Given the description of an element on the screen output the (x, y) to click on. 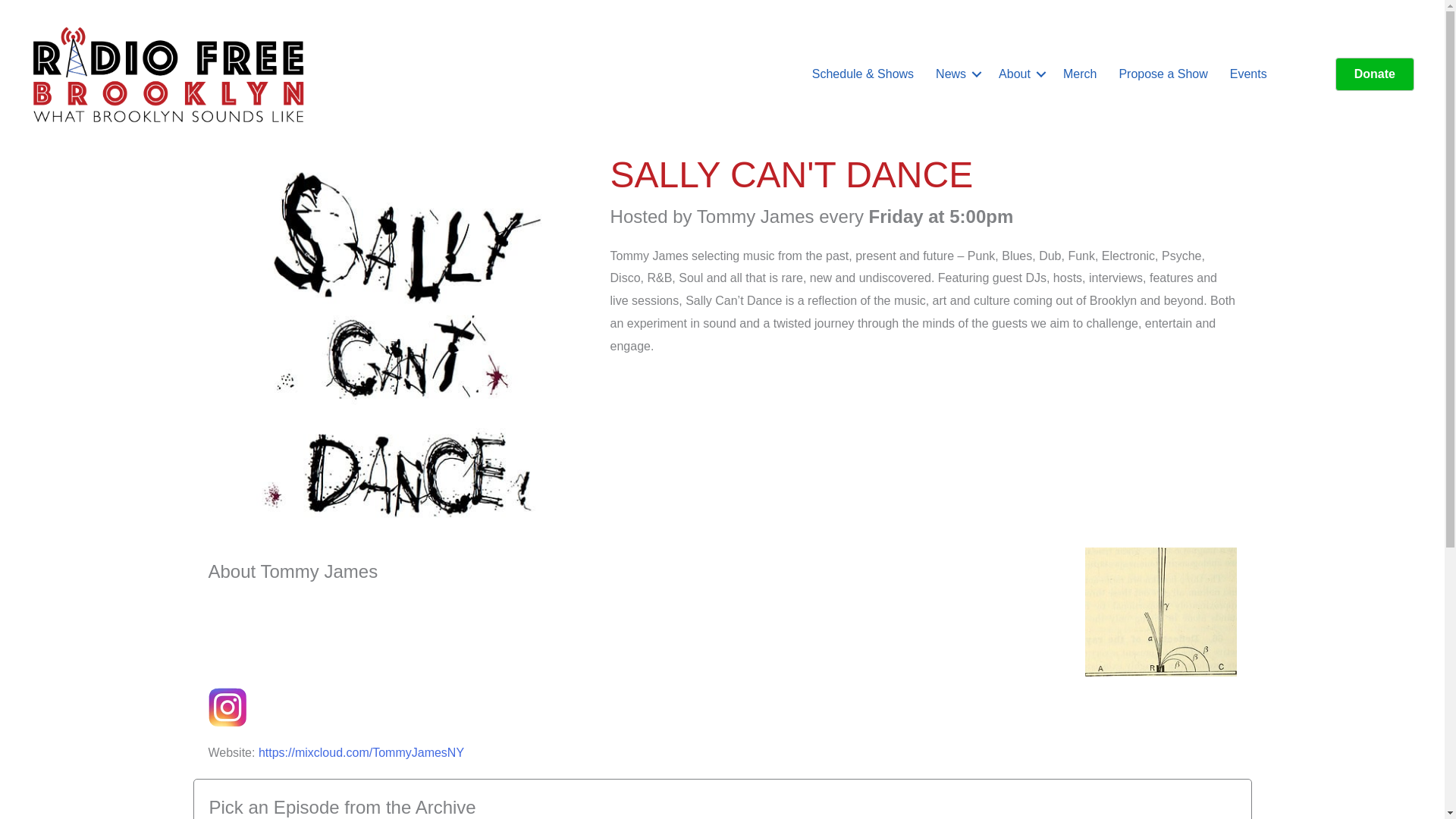
Donate (1374, 73)
cropped-RFB-Logo-3-Layer-Antenna-A.png (167, 74)
Events (1249, 73)
News (955, 73)
Propose a Show (1162, 73)
About (1019, 73)
Merch (1079, 73)
